Given the description of an element on the screen output the (x, y) to click on. 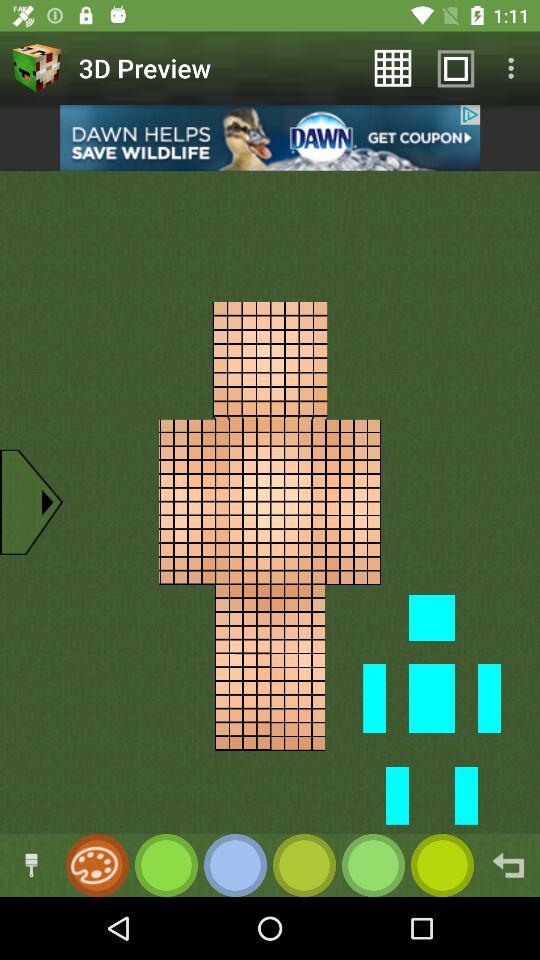
select green color (166, 865)
